Given the description of an element on the screen output the (x, y) to click on. 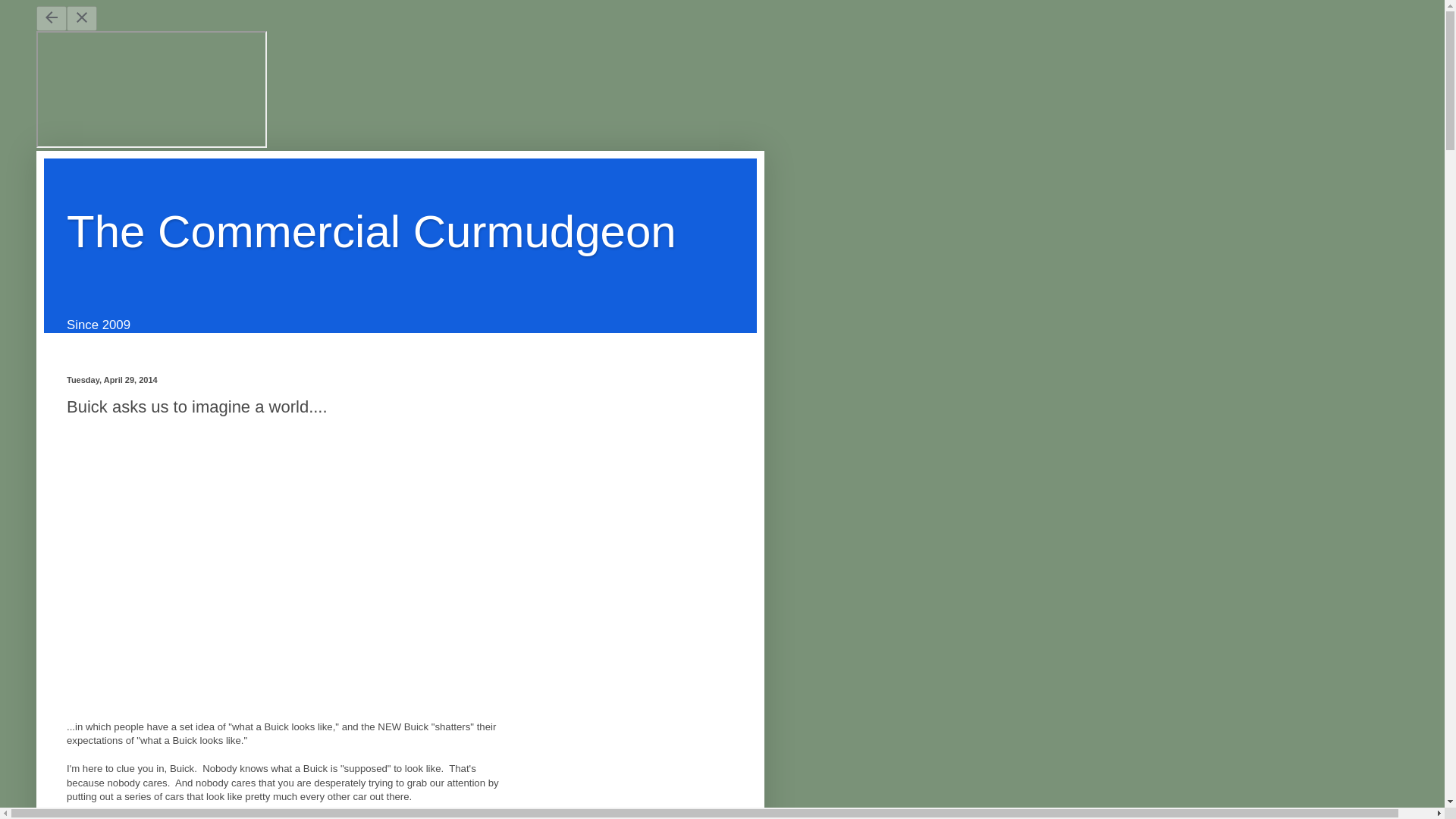
The Commercial Curmudgeon (371, 231)
